Given the description of an element on the screen output the (x, y) to click on. 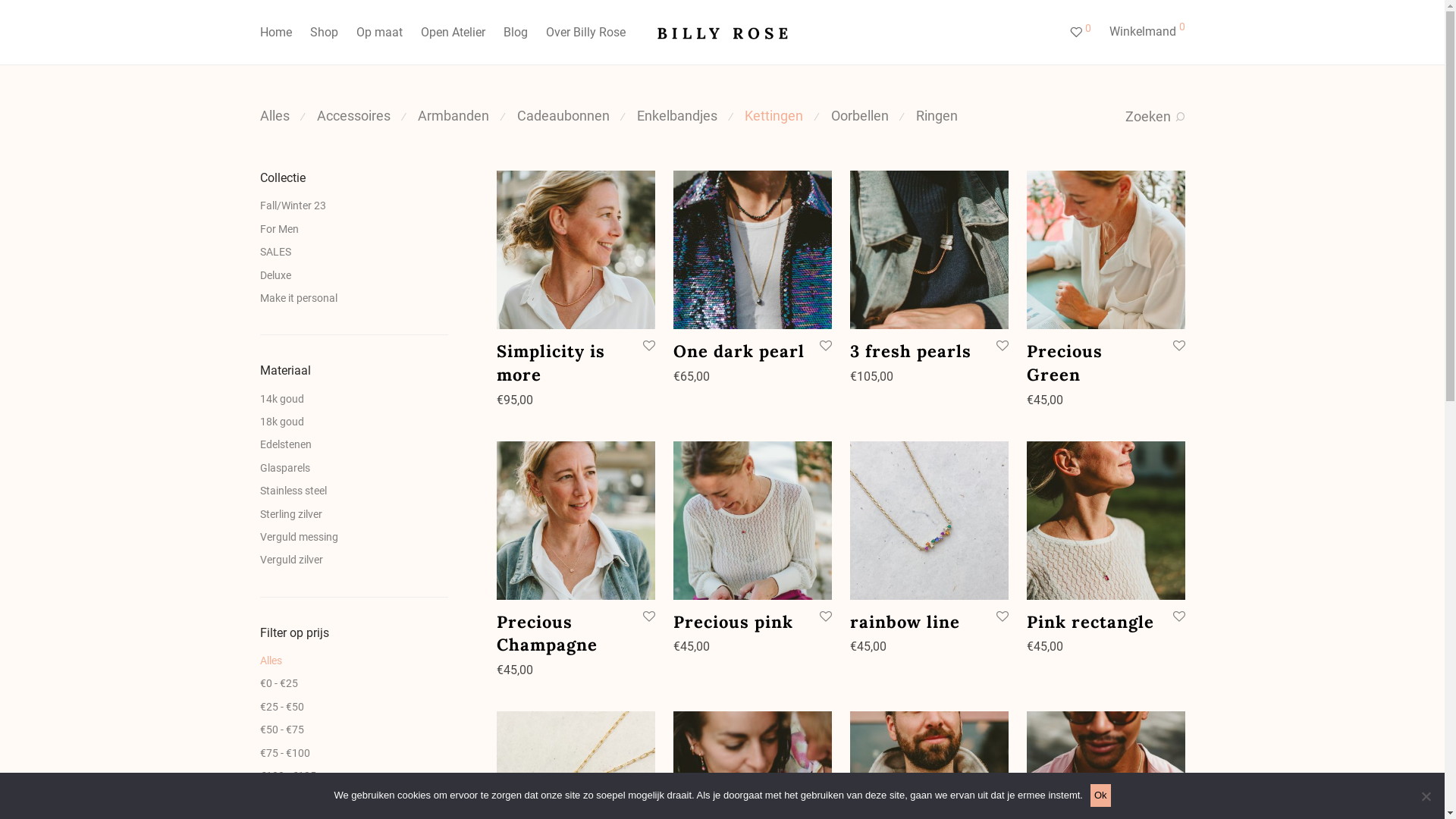
Home Element type: text (275, 32)
Ringen Element type: text (936, 115)
Add to Wishlist Element type: hover (1177, 345)
Winkelmand 0 Element type: text (1146, 31)
Deluxe Element type: text (274, 275)
Open Atelier Element type: text (452, 32)
SALES Element type: text (274, 251)
Alles Element type: text (273, 115)
Add to Wishlist Element type: hover (824, 345)
Kettingen Element type: text (773, 115)
Precious Champagne Element type: text (546, 633)
Verguld zilver Element type: text (290, 559)
Over Billy Rose Element type: text (585, 32)
rainbow line Element type: text (905, 621)
Oorbellen Element type: text (859, 115)
Cadeaubonnen Element type: text (563, 115)
Precious Green Element type: text (1064, 362)
Stainless steel Element type: text (292, 490)
Sterling zilver Element type: text (290, 514)
For Men Element type: text (278, 228)
Op maat Element type: text (379, 32)
One dark pearl Element type: text (738, 350)
Add to Wishlist Element type: hover (647, 345)
14k goud Element type: text (281, 398)
Verguld messing Element type: text (298, 536)
Glasparels Element type: text (284, 467)
Armbanden Element type: text (453, 115)
Accessoires Element type: text (353, 115)
Zoeken Element type: text (1155, 116)
Shop Element type: text (323, 32)
3 fresh pearls Element type: text (910, 350)
Add to Wishlist Element type: hover (1177, 616)
No Element type: hover (1425, 795)
18k goud Element type: text (281, 421)
Ok Element type: text (1100, 795)
Add to Wishlist Element type: hover (647, 616)
Pink rectangle Element type: text (1090, 621)
Add to Wishlist Element type: hover (824, 616)
Add to Wishlist Element type: hover (1001, 616)
Blog Element type: text (515, 32)
Make it personal Element type: text (297, 297)
Precious pink Element type: text (733, 621)
0 Element type: text (1079, 32)
Add to Wishlist Element type: hover (1001, 345)
Edelstenen Element type: text (284, 444)
Enkelbandjes Element type: text (677, 115)
Fall/Winter 23 Element type: text (292, 205)
Simplicity is more Element type: text (550, 362)
